Given the description of an element on the screen output the (x, y) to click on. 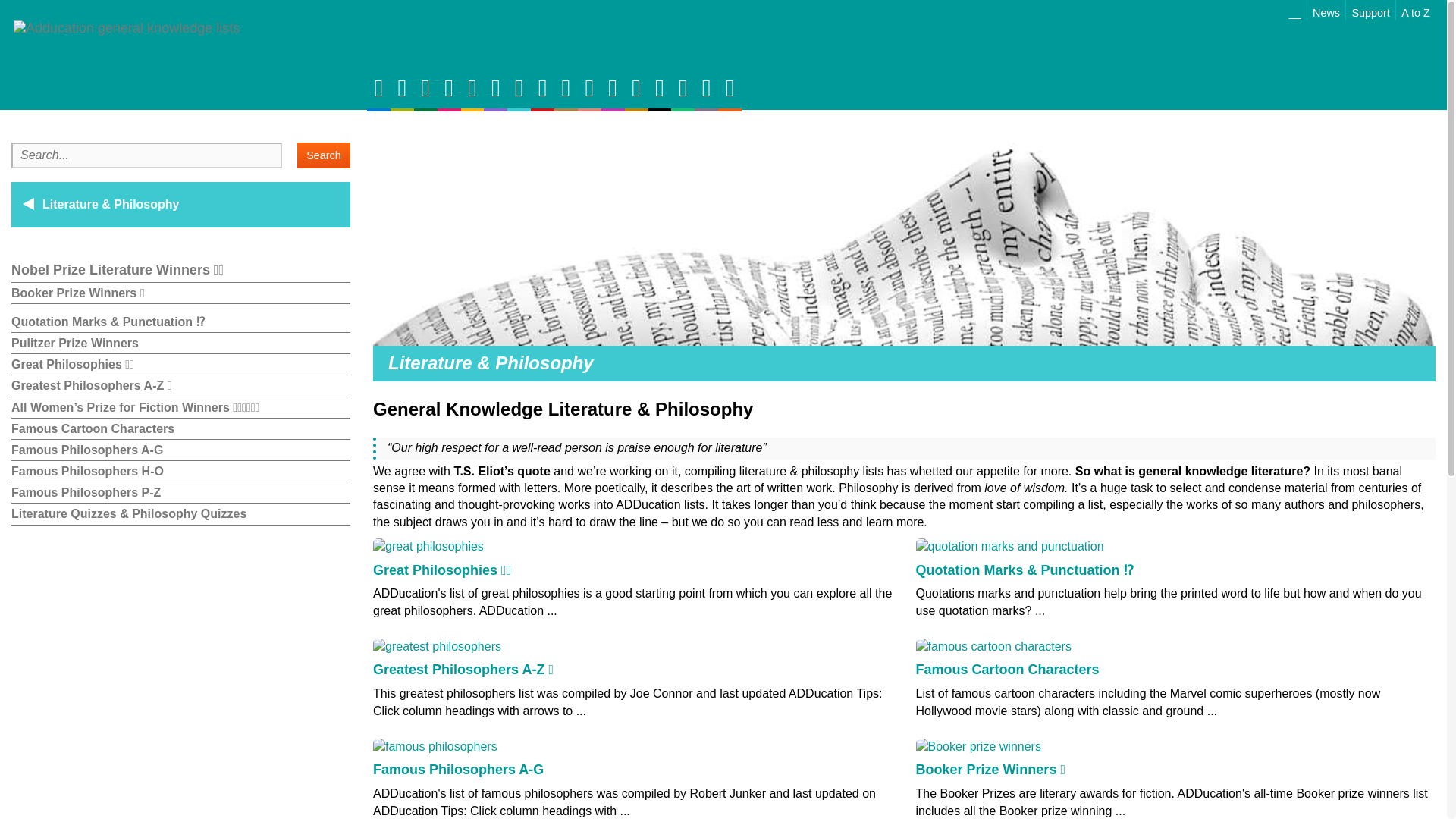
News (1326, 10)
Search (323, 155)
Famous Philosophers P-Z (180, 492)
Pulitzer Prize Winners (180, 342)
Famous Philosophers A-G (180, 450)
A to Z (1415, 10)
Famous Cartoon Characters (180, 428)
Famous Philosophers H-O (180, 471)
Support (1370, 10)
